Given the description of an element on the screen output the (x, y) to click on. 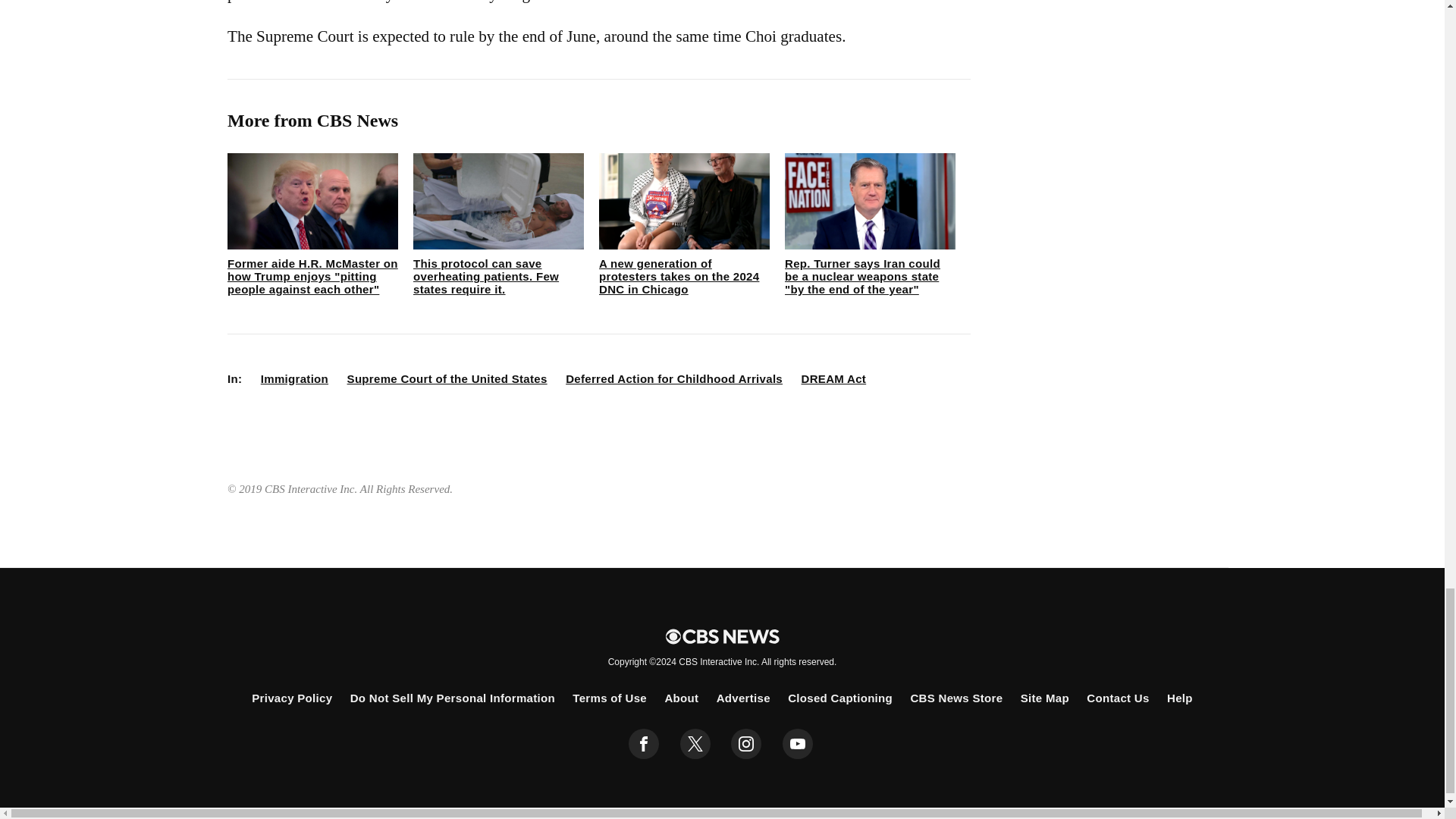
facebook (643, 743)
youtube (797, 743)
twitter (694, 743)
instagram (745, 743)
